Given the description of an element on the screen output the (x, y) to click on. 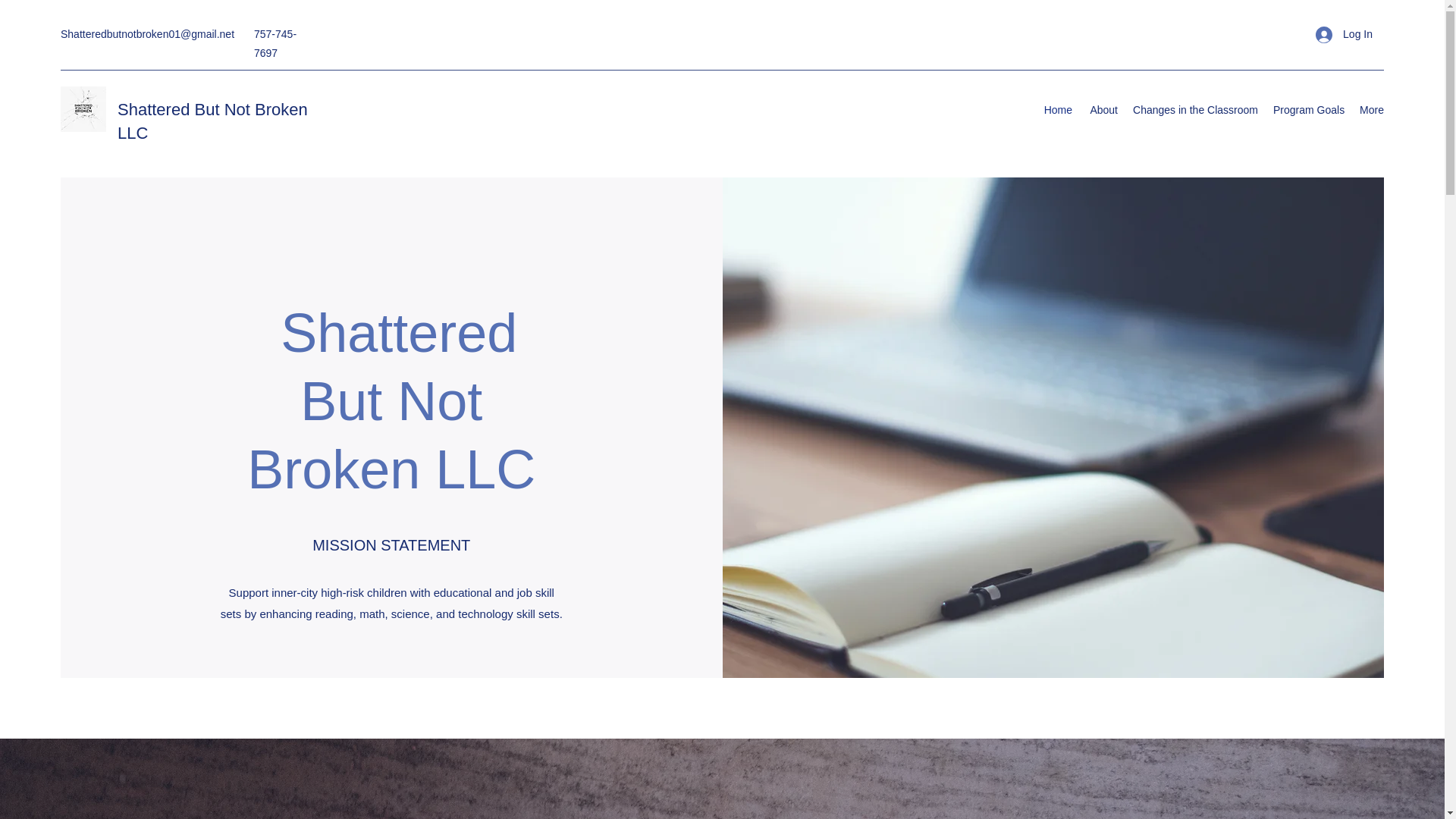
Changes in the Classroom (1195, 109)
Shattered But Not Broken LLC (212, 120)
About (1102, 109)
Home (1057, 109)
Log In (1343, 34)
Program Goals (1308, 109)
